Given the description of an element on the screen output the (x, y) to click on. 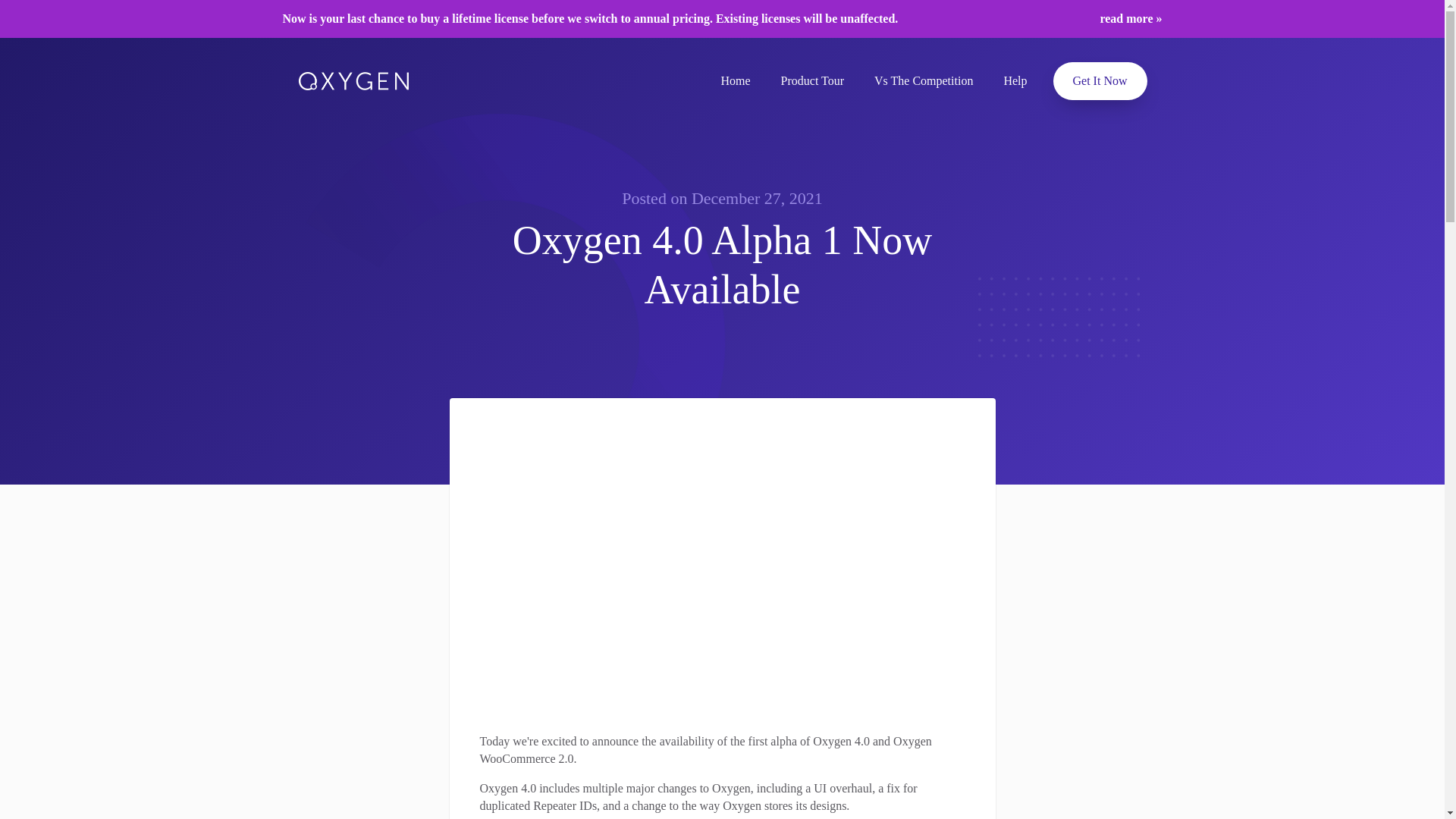
Help (1015, 80)
read more (1130, 18)
Product Tour (812, 80)
Home (734, 80)
Vs The Competition (923, 80)
Get It Now (1099, 80)
